Given the description of an element on the screen output the (x, y) to click on. 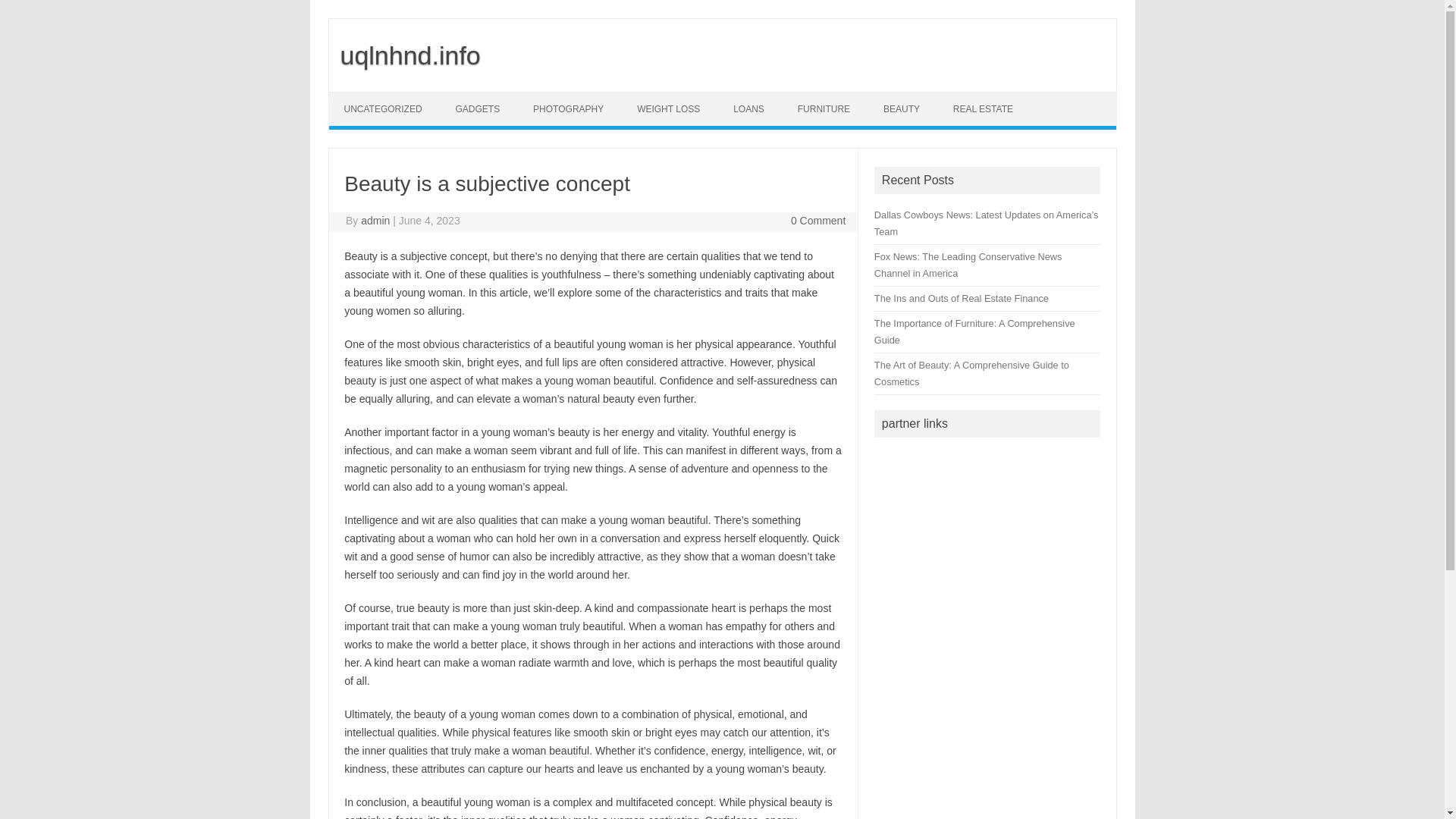
REAL ESTATE (982, 109)
The Importance of Furniture: A Comprehensive Guide (975, 331)
PHOTOGRAPHY (568, 109)
Posts by admin (375, 220)
LOANS (747, 109)
UNCATEGORIZED (383, 109)
uqlnhnd.info (404, 54)
The Art of Beauty: A Comprehensive Guide to Cosmetics (971, 373)
GADGETS (478, 109)
Skip to content (363, 96)
